Given the description of an element on the screen output the (x, y) to click on. 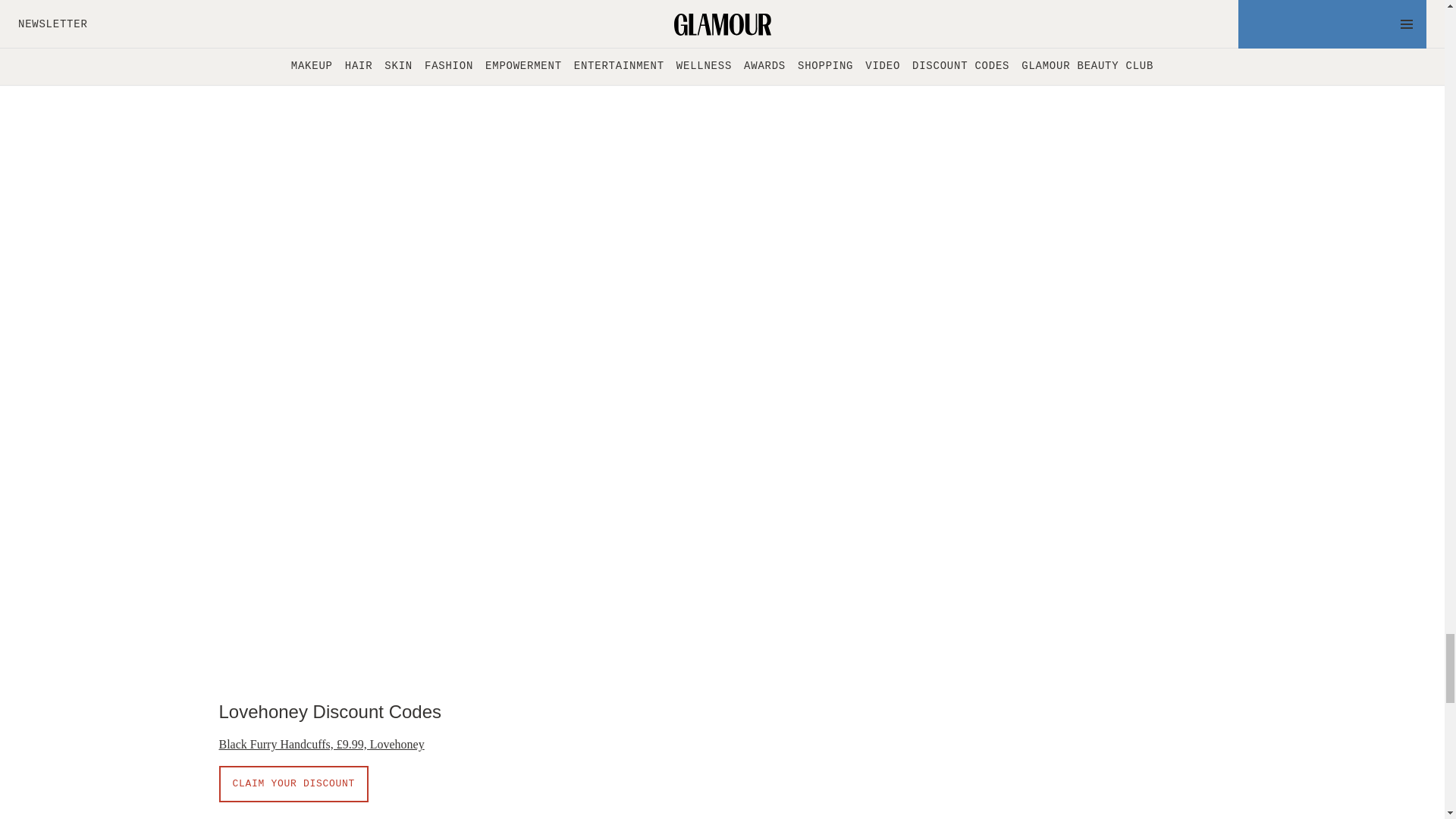
Claim Your Discount (293, 1)
Claim Your Discount (293, 783)
